Given the description of an element on the screen output the (x, y) to click on. 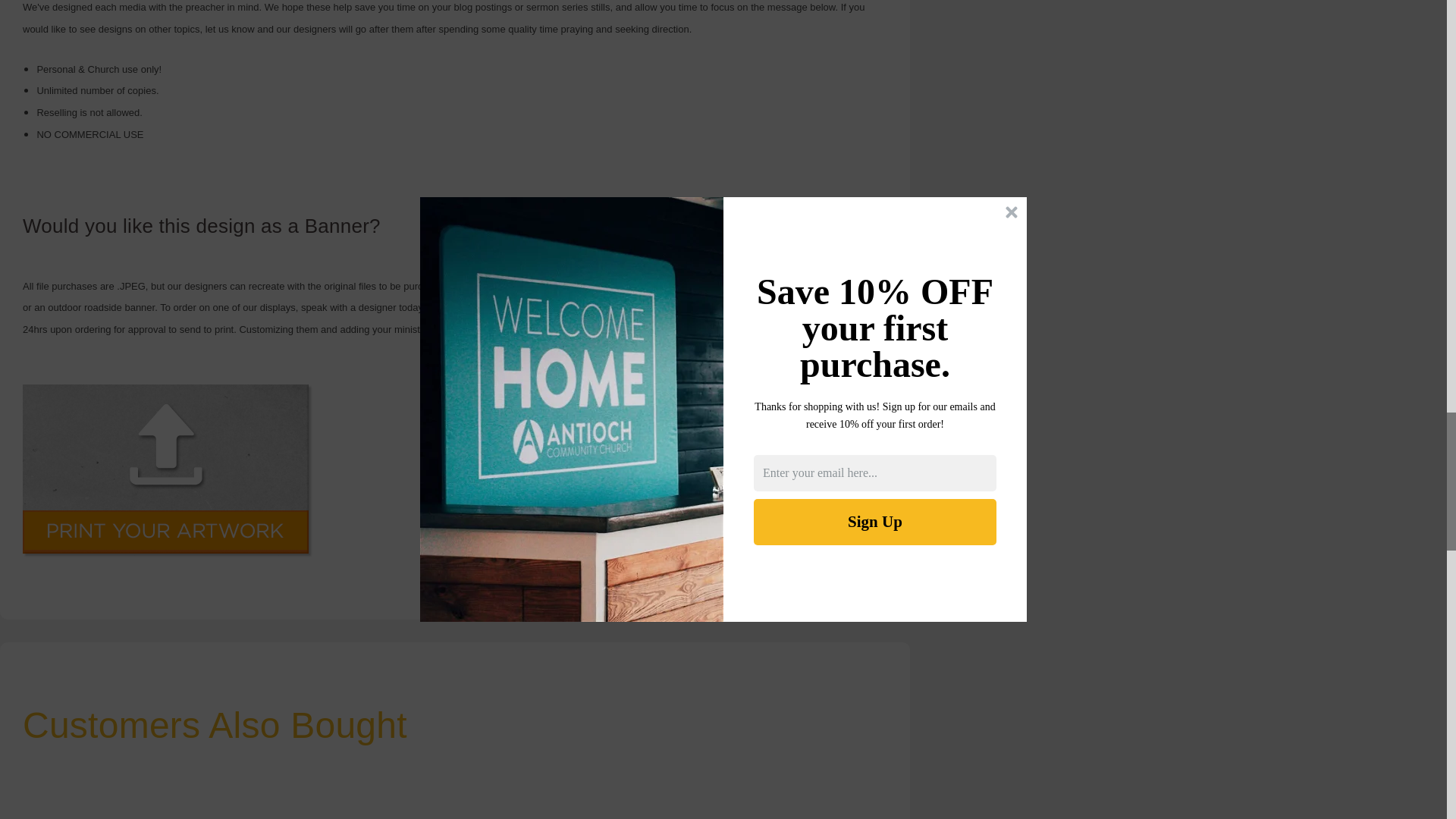
VIEW (455, 800)
VIEW (101, 800)
VIEW (278, 800)
VIEW (808, 800)
print-my-artwork-button3.png (168, 470)
VIEW (631, 800)
